Given the description of an element on the screen output the (x, y) to click on. 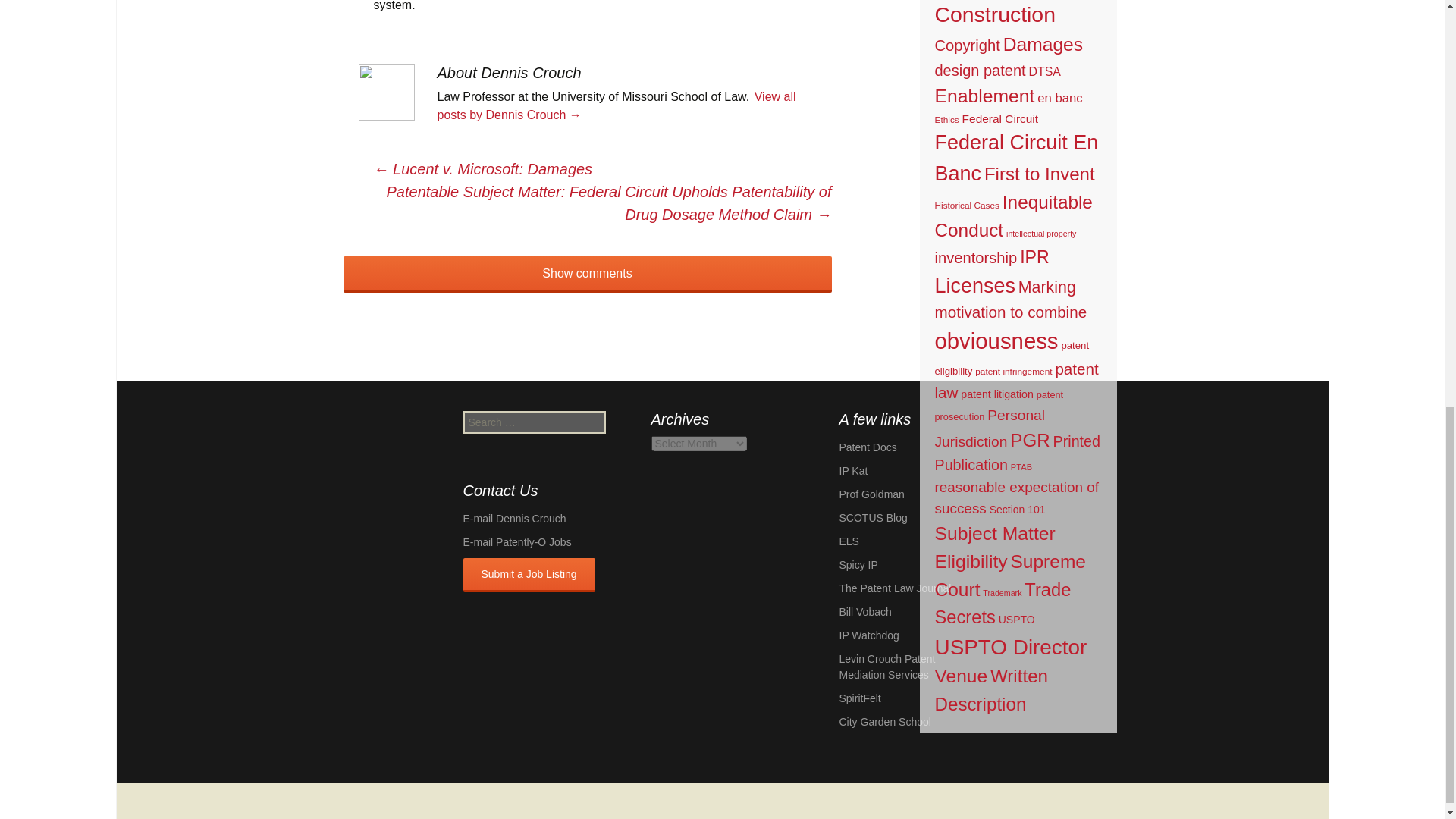
Show comments (586, 274)
